Given the description of an element on the screen output the (x, y) to click on. 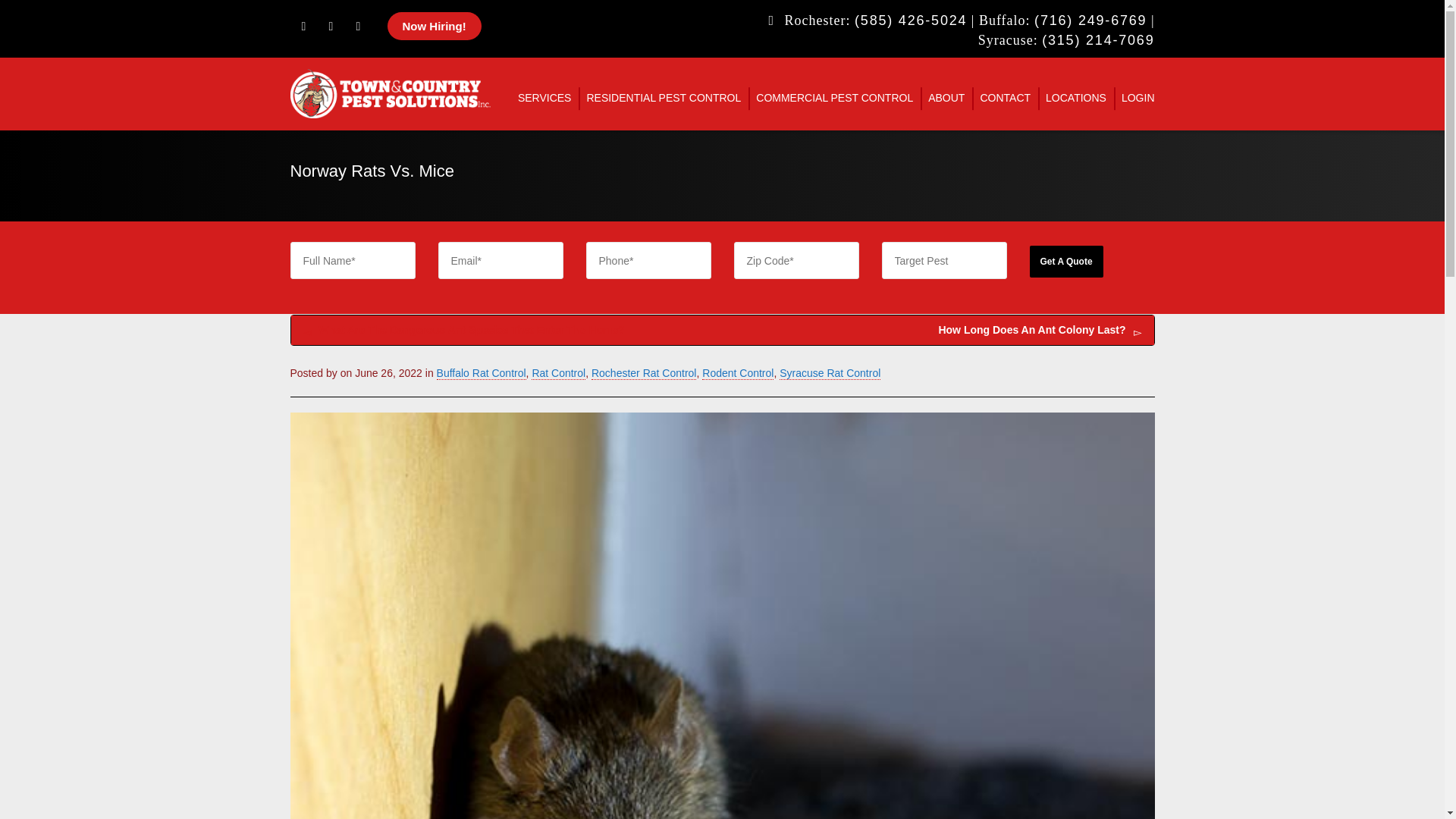
Get A Quote (1066, 261)
Services (545, 98)
